Given the description of an element on the screen output the (x, y) to click on. 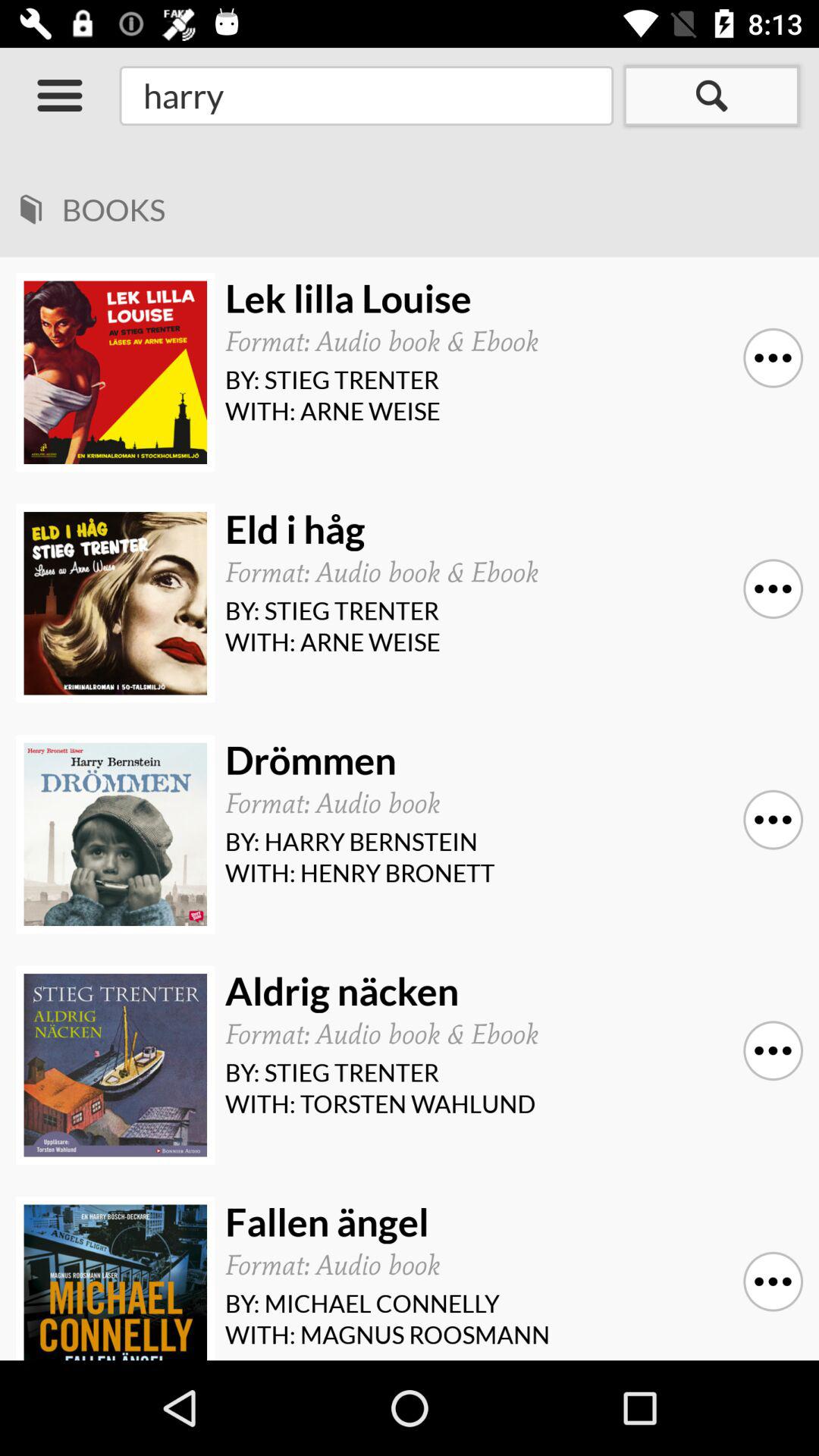
tap the item above format audio book item (508, 529)
